Given the description of an element on the screen output the (x, y) to click on. 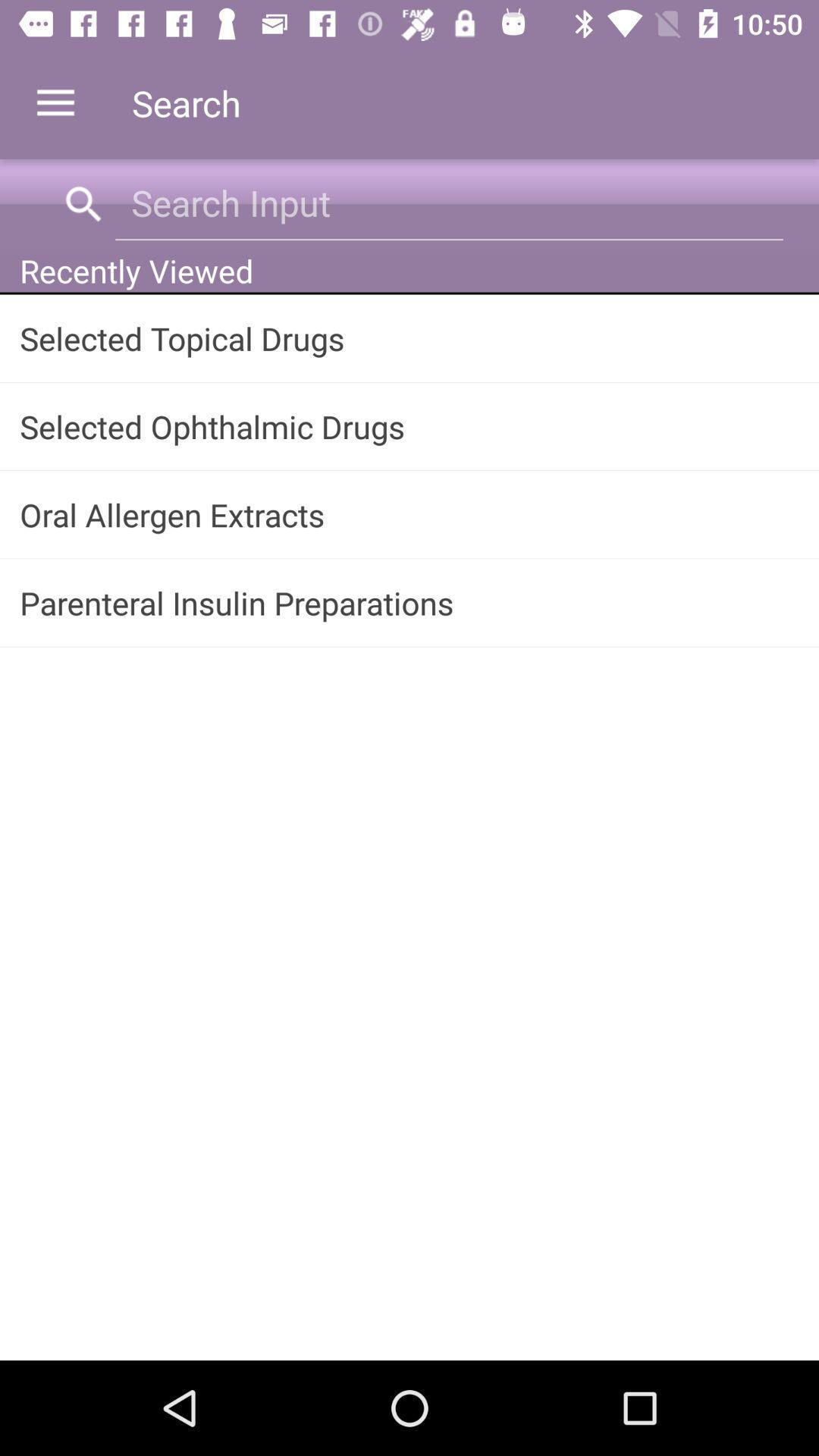
turn on the icon below selected ophthalmic drugs app (409, 514)
